Given the description of an element on the screen output the (x, y) to click on. 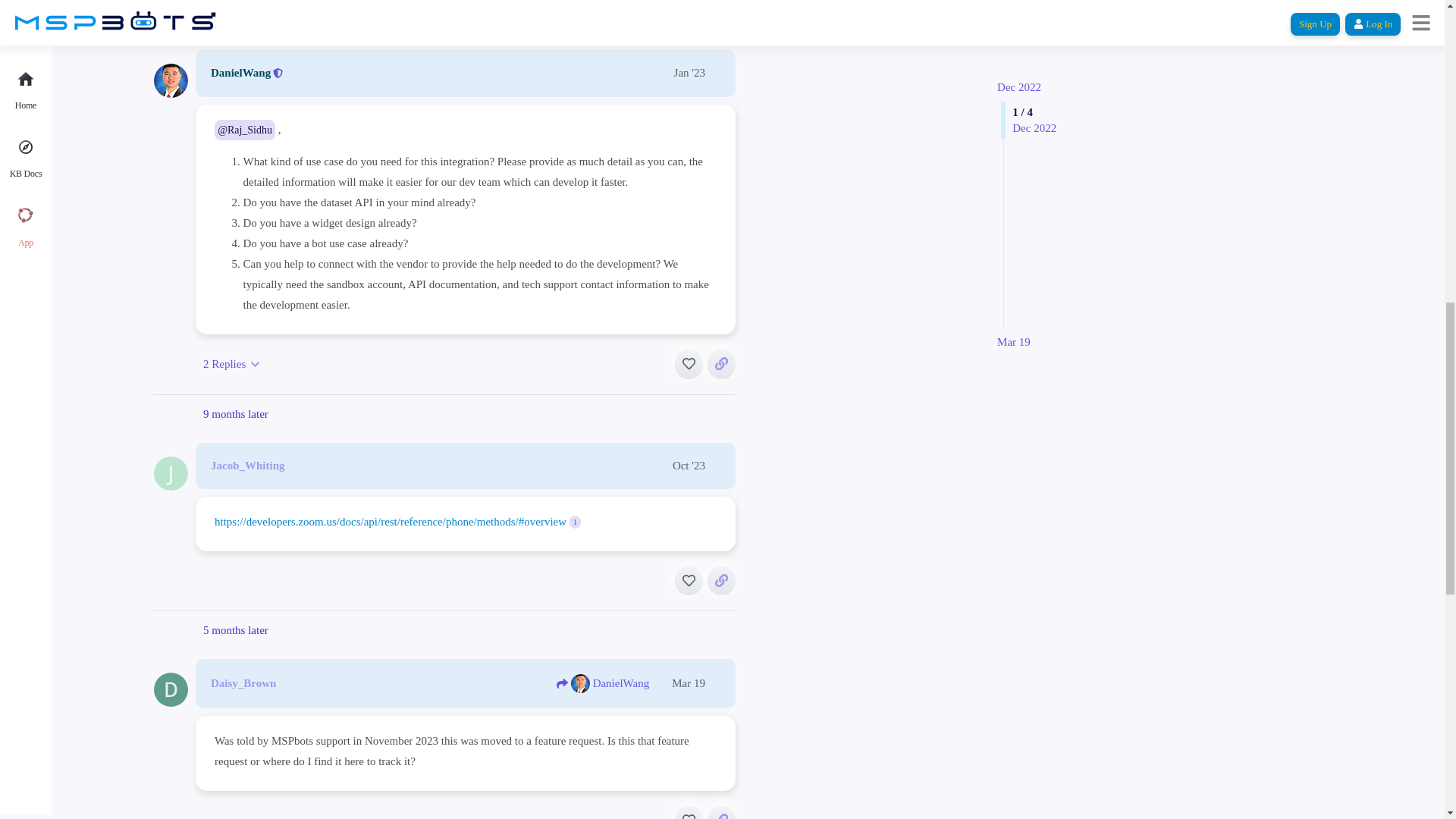
Mar 19 (1013, 40)
Jan '23 (689, 72)
Mar 19 (1013, 40)
DanielWang (240, 73)
2 Replies (231, 364)
